Given the description of an element on the screen output the (x, y) to click on. 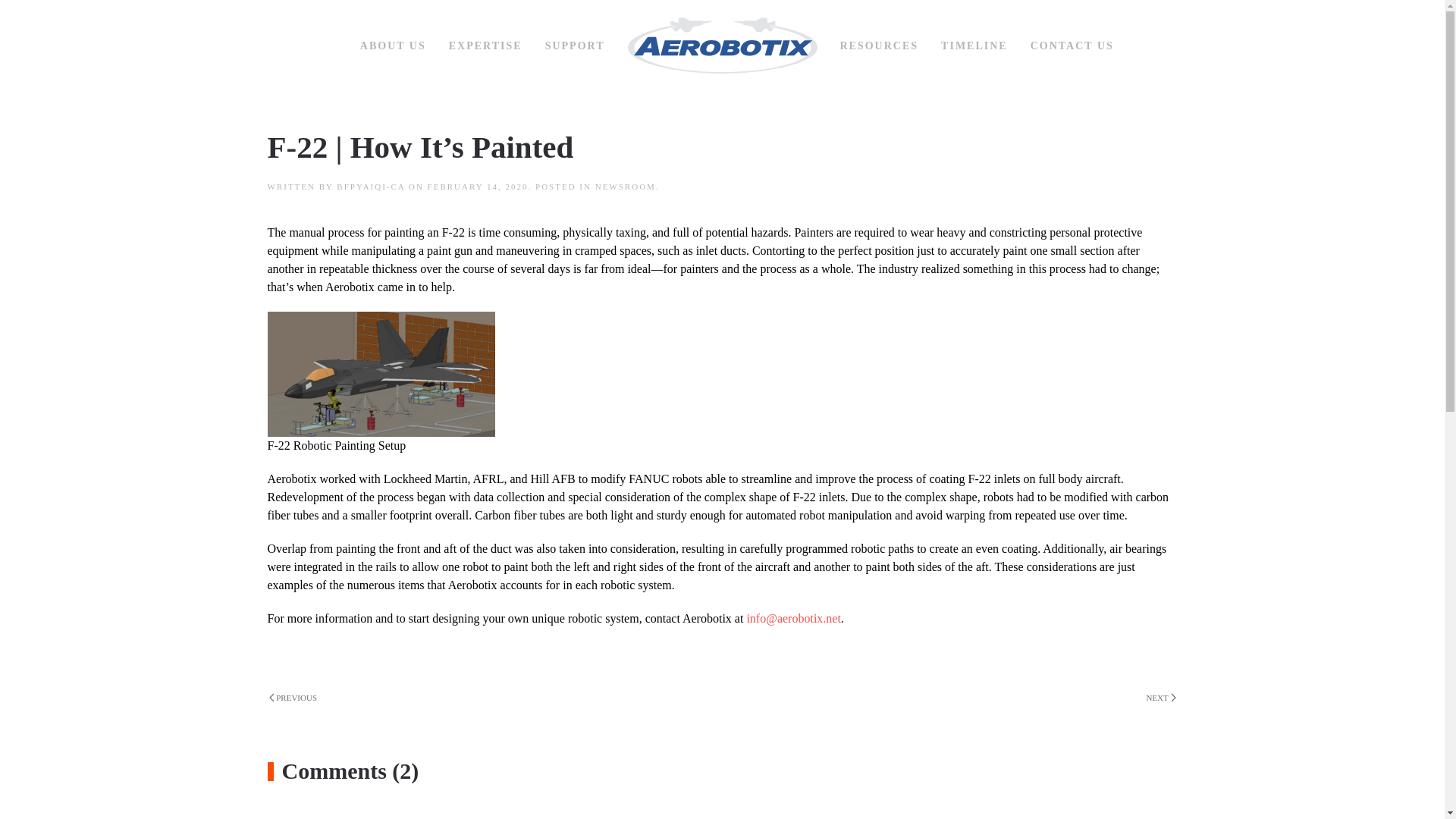
CONTACT US (1071, 45)
RESOURCES (879, 45)
TIMELINE (973, 45)
BFPYAIQI-CA (370, 185)
SUPPORT (574, 45)
EXPERTISE (485, 45)
ABOUT US (392, 45)
